Given the description of an element on the screen output the (x, y) to click on. 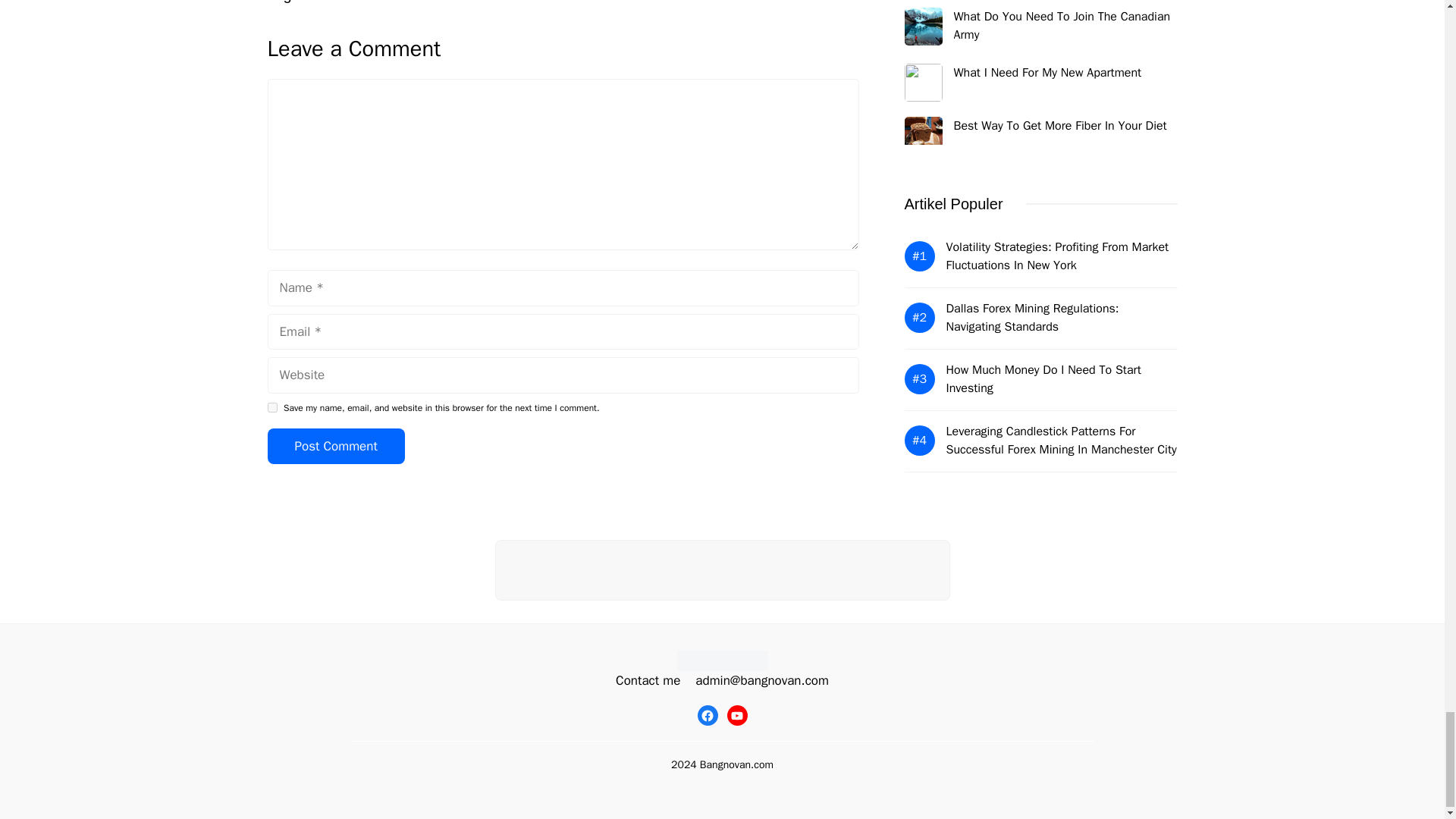
Post Comment (335, 446)
Post Comment (335, 446)
yes (271, 407)
